Given the description of an element on the screen output the (x, y) to click on. 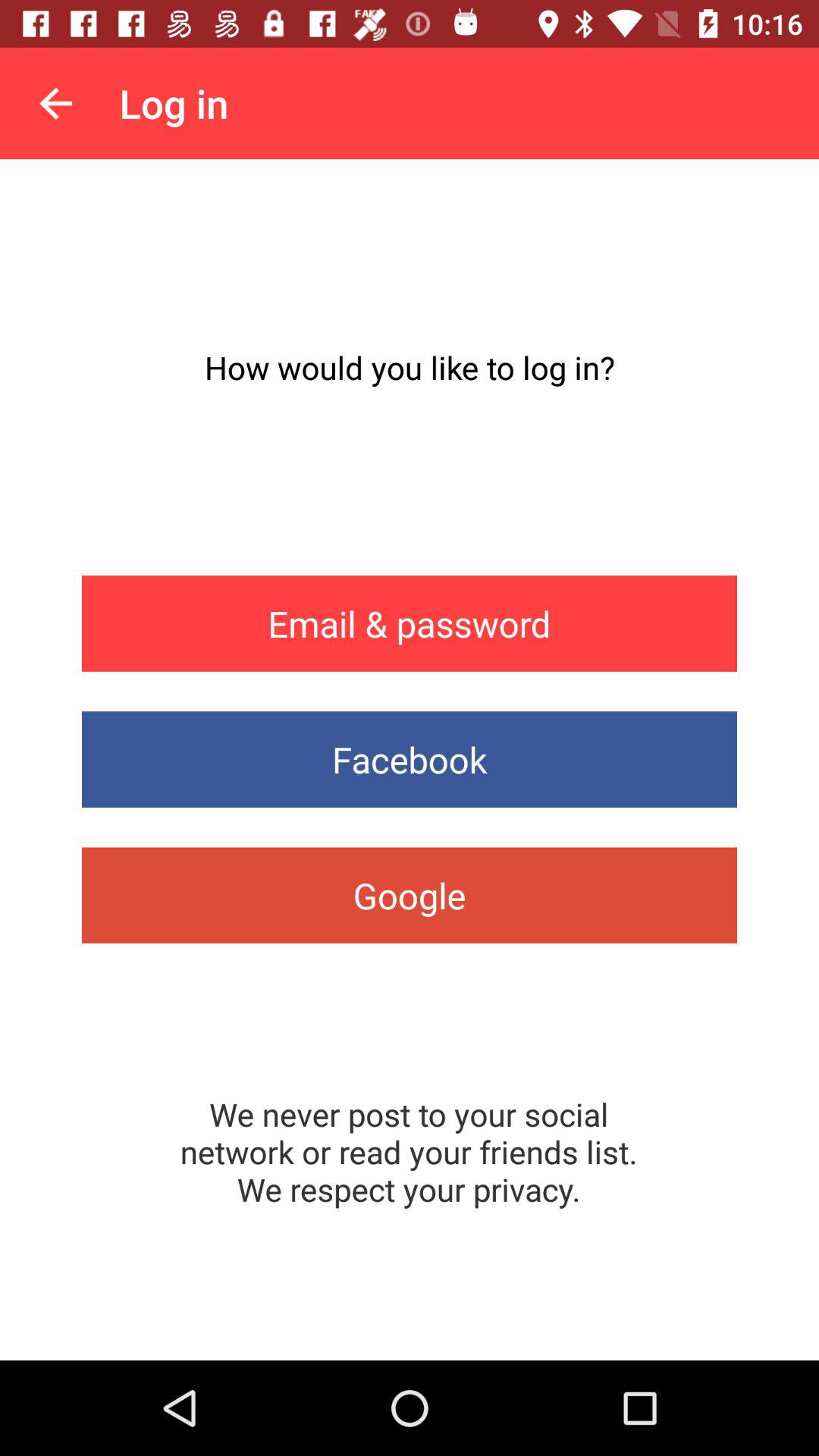
select icon below the how would you item (409, 623)
